Given the description of an element on the screen output the (x, y) to click on. 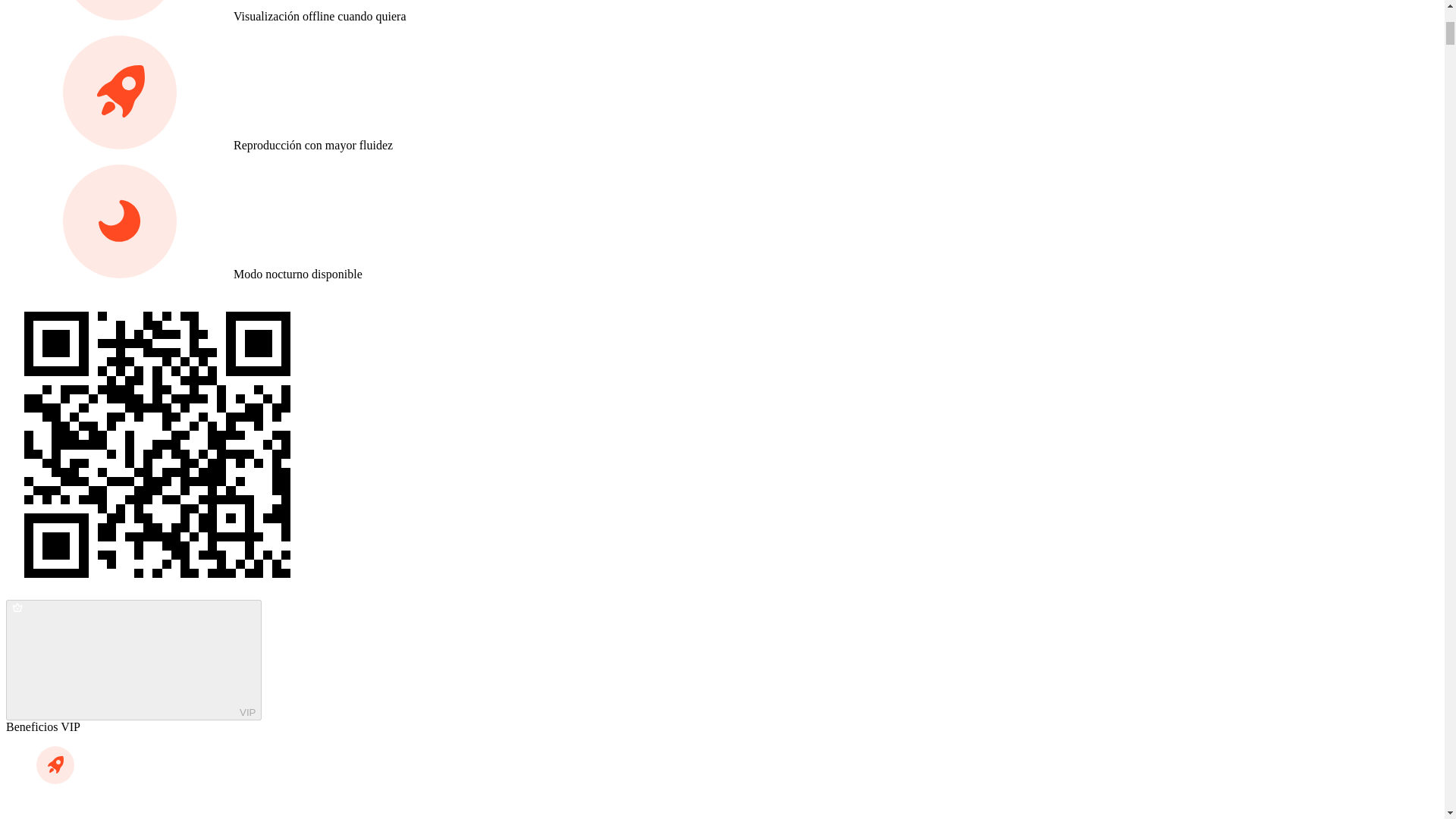
VIP (133, 659)
